Given the description of an element on the screen output the (x, y) to click on. 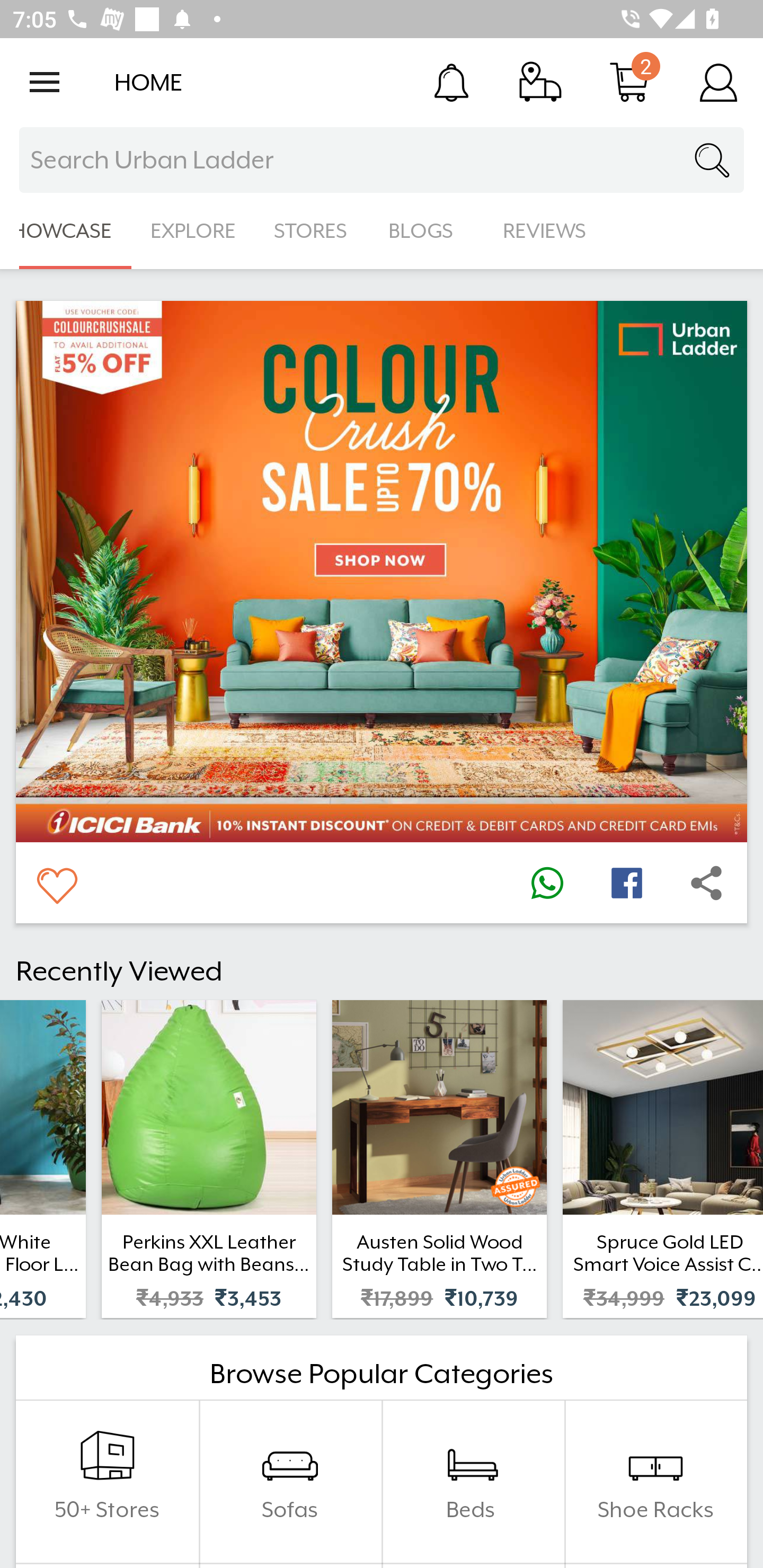
Open navigation drawer (44, 82)
Notification (450, 81)
Track Order (540, 81)
Cart (629, 81)
Account Details (718, 81)
Search Urban Ladder  (381, 159)
SHOWCASE (65, 230)
EXPLORE (192, 230)
STORES (311, 230)
BLOGS (426, 230)
REVIEWS (544, 230)
 (55, 882)
 (547, 882)
 (626, 882)
 (706, 882)
50+ Stores (106, 1481)
Sofas (289, 1481)
Beds  (473, 1481)
Shoe Racks (655, 1481)
